Given the description of an element on the screen output the (x, y) to click on. 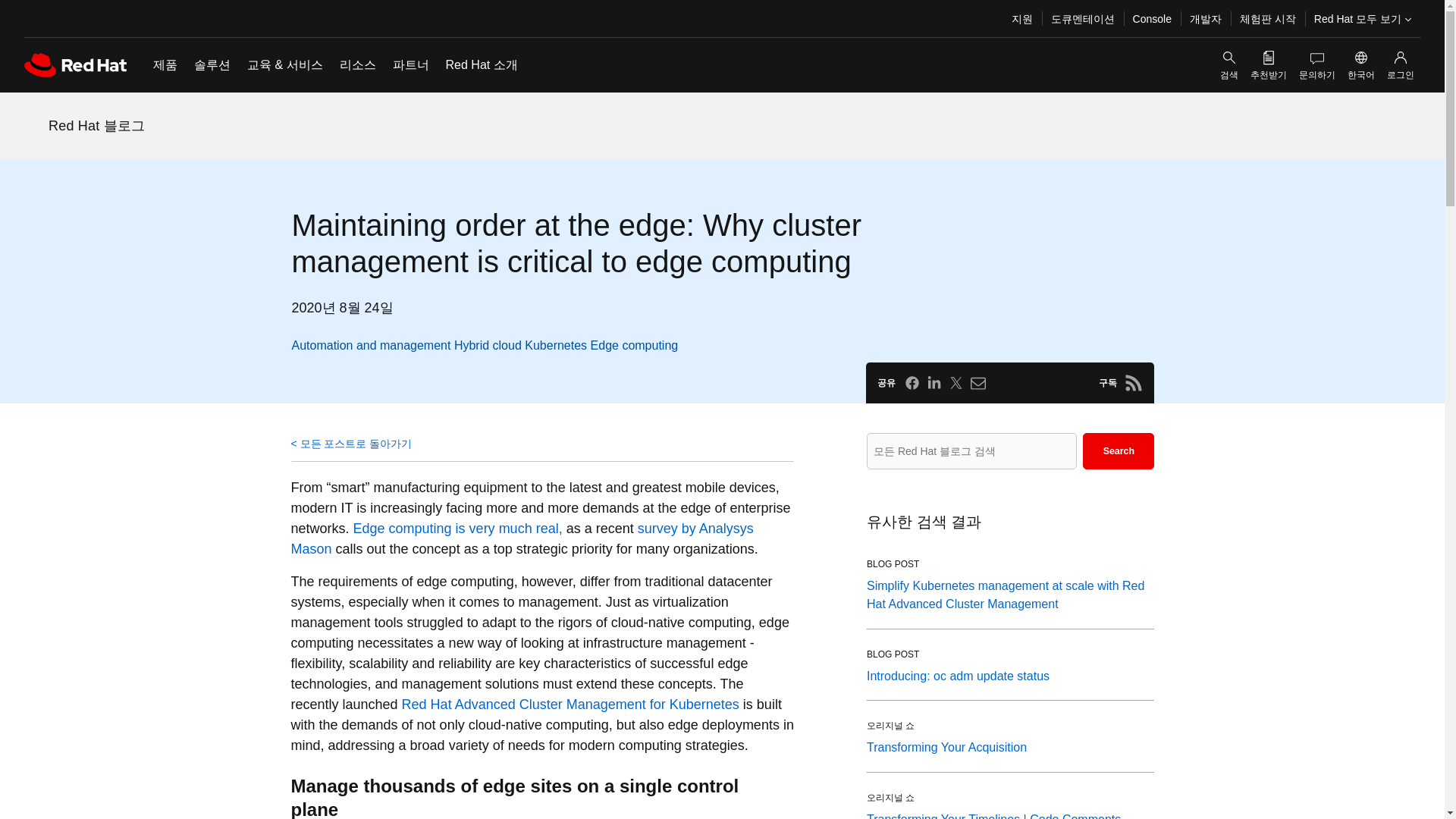
Console (1152, 18)
